Given the description of an element on the screen output the (x, y) to click on. 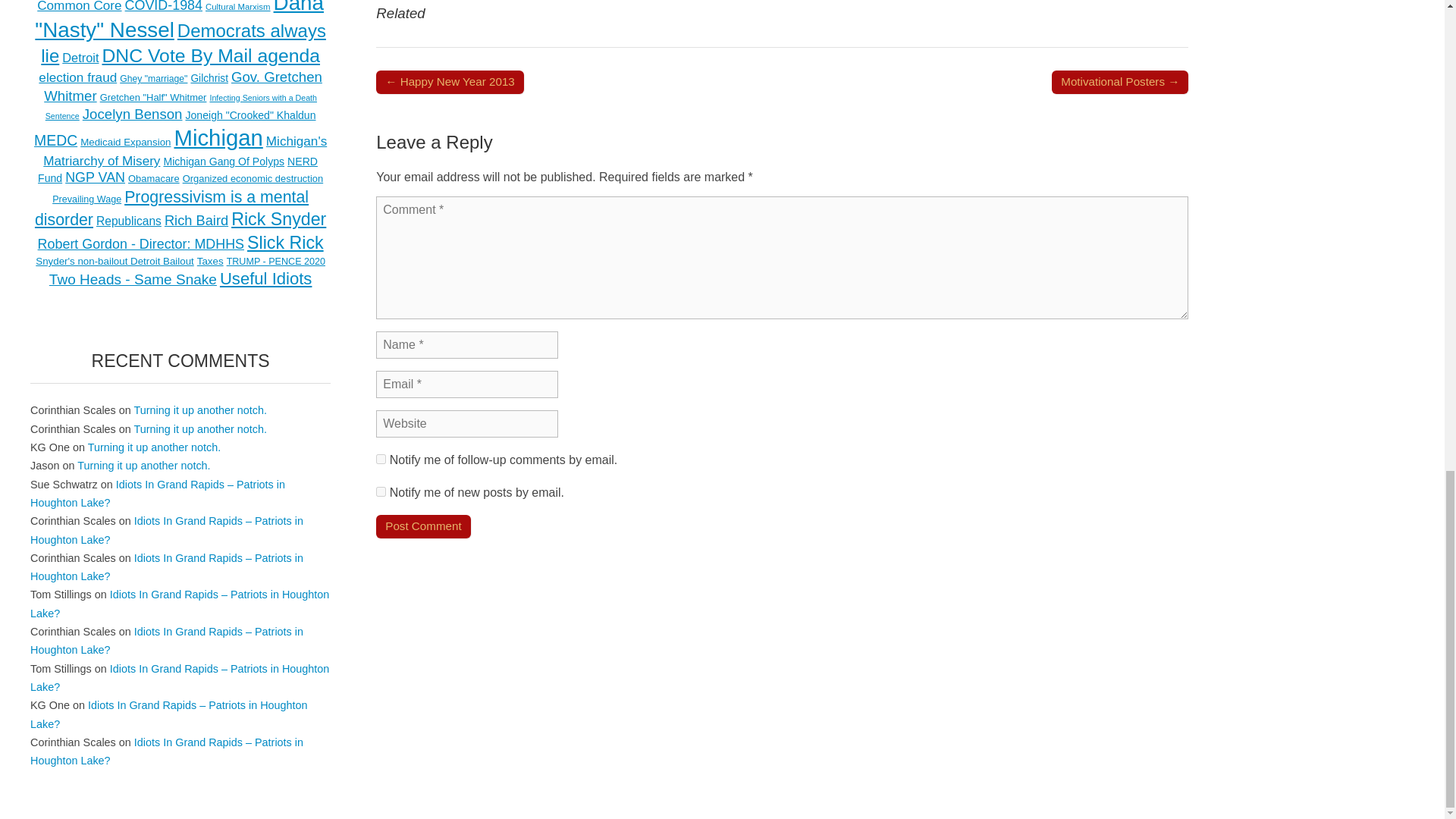
Dana "Nasty" Nessel (178, 20)
subscribe (380, 491)
COVID-1984 (163, 6)
Ghey "marriage" (153, 78)
election fraud (77, 77)
Gov. Gretchen Whitmer (182, 85)
Common Core (78, 6)
Democrats always lie (183, 43)
Cultural Marxism (237, 6)
subscribe (380, 459)
